Given the description of an element on the screen output the (x, y) to click on. 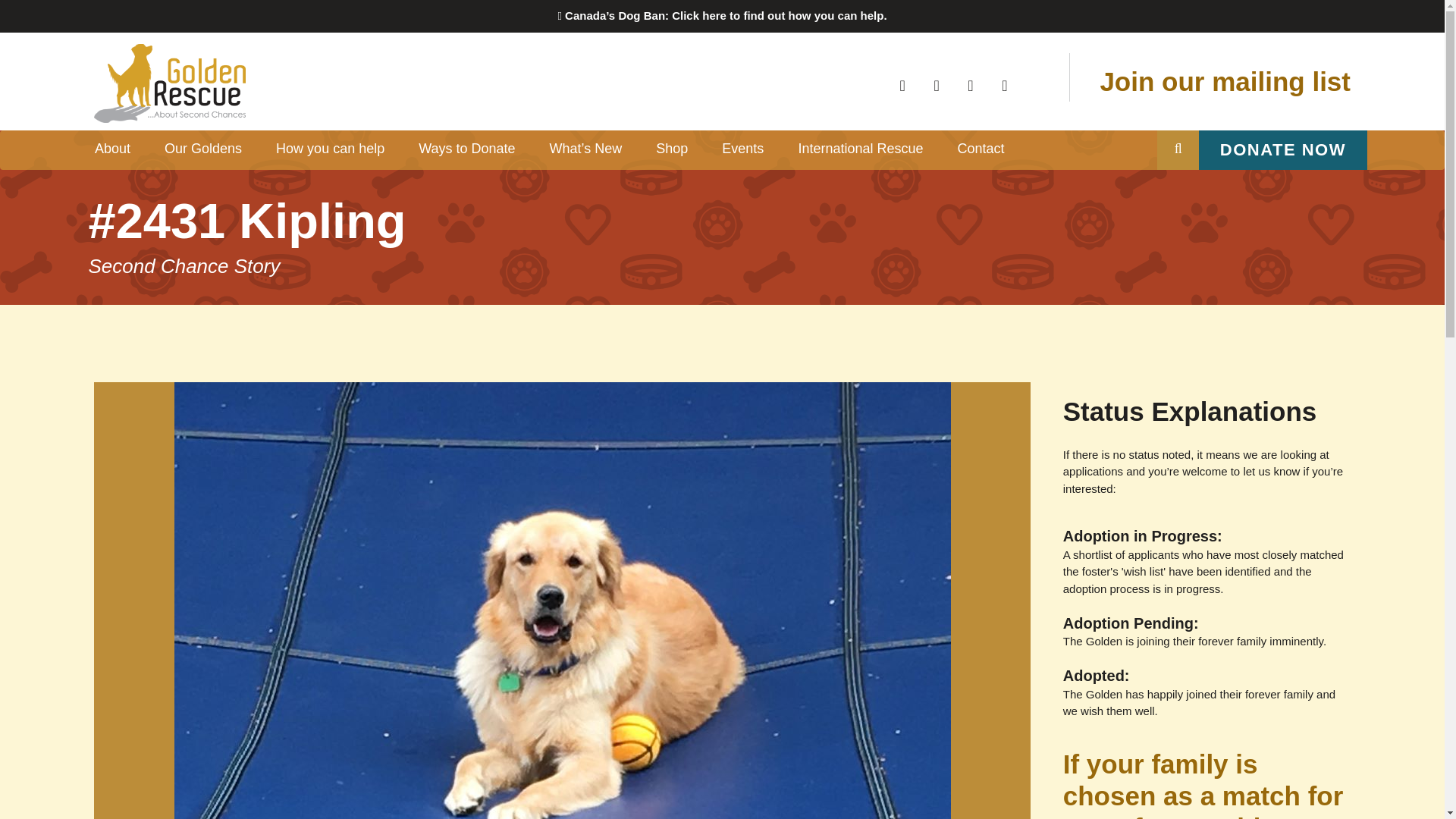
threads (1038, 86)
Youtube (936, 85)
 Join our mailing list (1222, 81)
How you can help (330, 149)
About (112, 149)
Return to home (349, 83)
Instagram (1005, 85)
Our Goldens (203, 149)
Pinterest (970, 85)
Ways to Donate (466, 149)
